Given the description of an element on the screen output the (x, y) to click on. 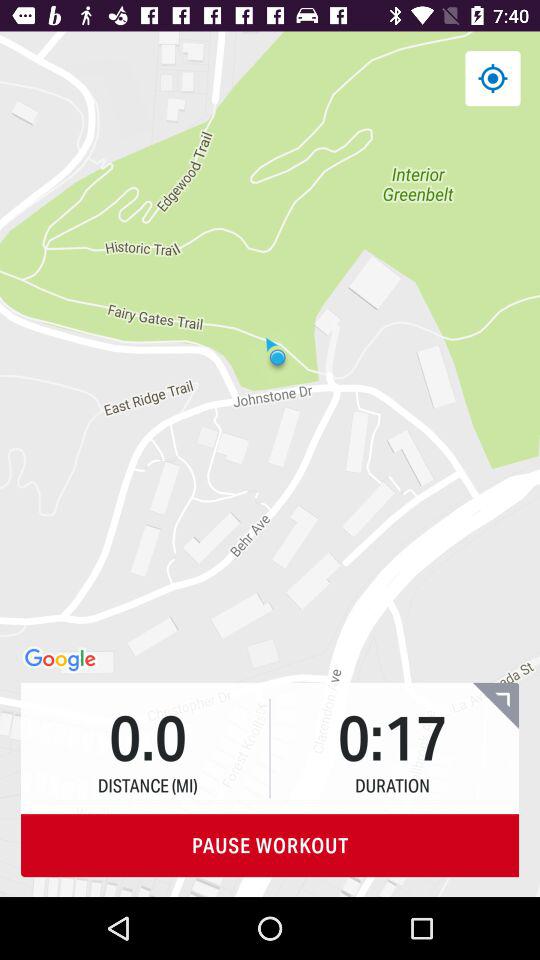
jump until the pause workout item (270, 845)
